Given the description of an element on the screen output the (x, y) to click on. 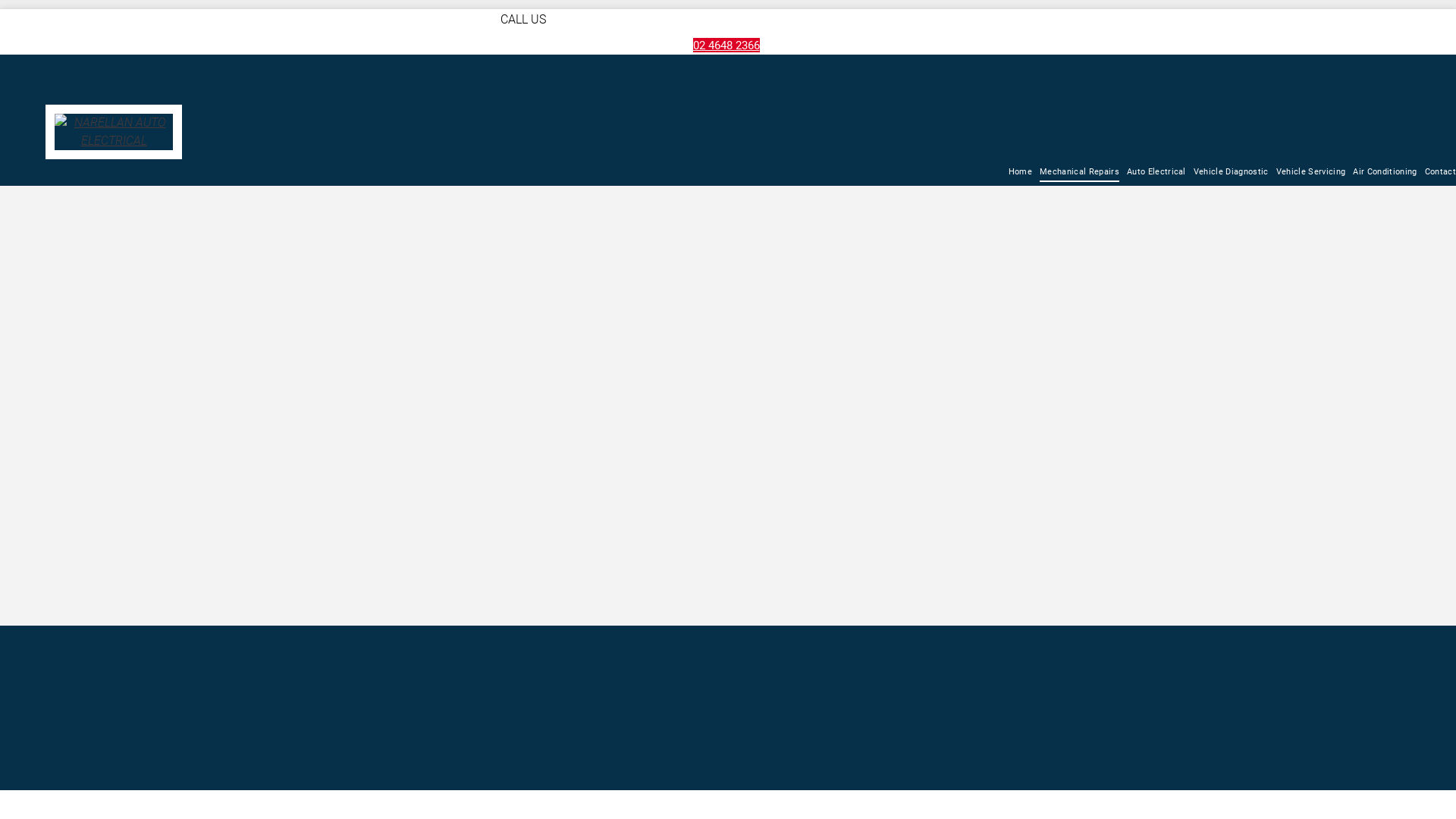
Vehicle Servicing Element type: text (1311, 172)
Air Conditioning Element type: text (1384, 172)
Mechanical Repairs Element type: text (1079, 172)
Auto Electrical Element type: text (1156, 172)
02 4648 2366 Element type: text (726, 44)
Home Element type: text (1020, 172)
Vehicle Diagnostic Element type: text (1230, 172)
